Given the description of an element on the screen output the (x, y) to click on. 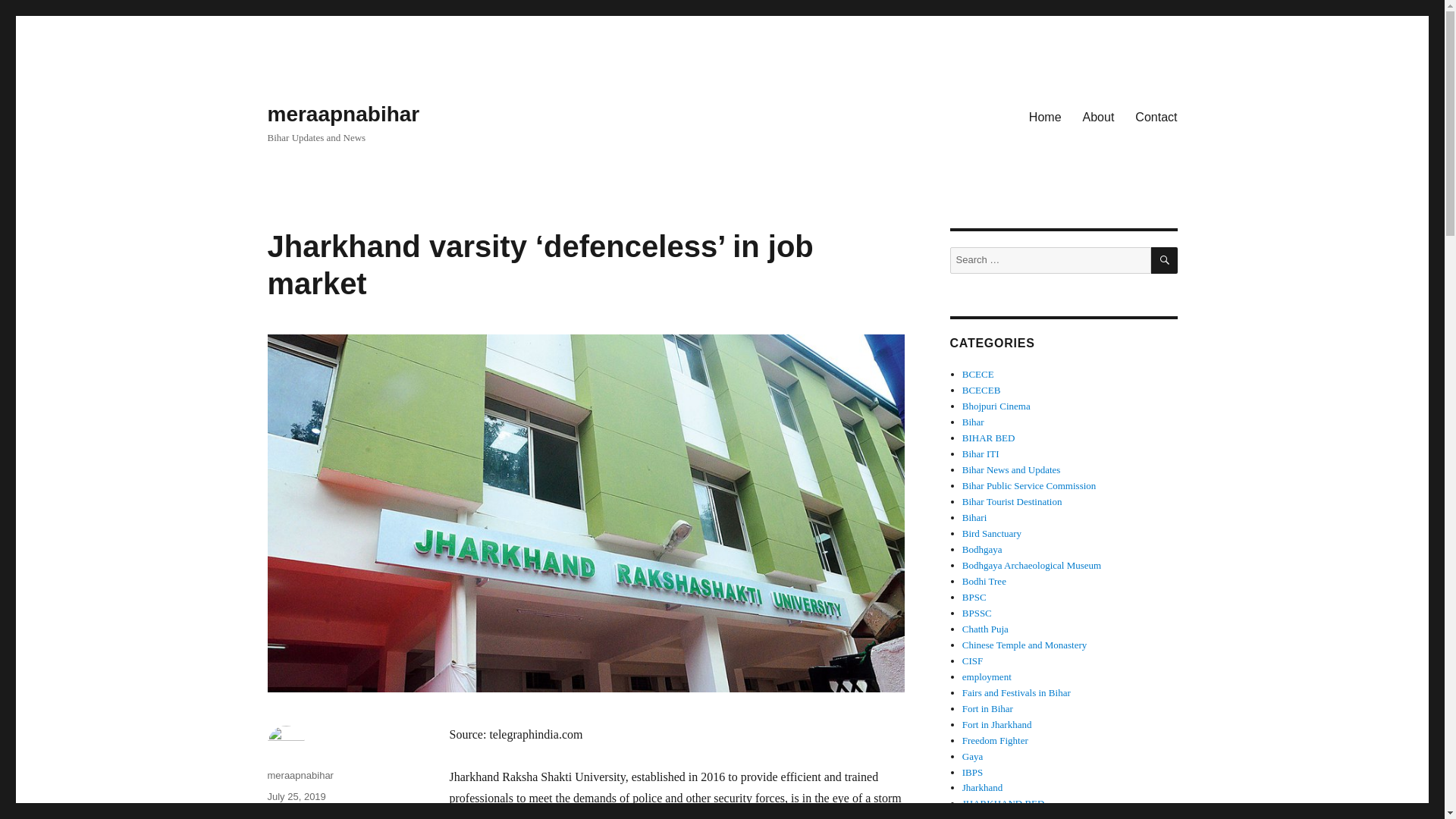
BCECE (978, 374)
Bird Sanctuary (992, 532)
BIHAR BED (988, 437)
Bihar ITI (980, 453)
Bihar (973, 421)
Bihar Public Service Commission (1029, 485)
BPSC (974, 596)
CISF (972, 660)
July 25, 2019 (295, 796)
Bhojpuri Cinema (996, 405)
Fairs and Festivals in Bihar (1016, 692)
Bihar News and Updates (1011, 469)
meraapnabihar (342, 114)
Bodhgaya (982, 549)
employment (986, 676)
